Given the description of an element on the screen output the (x, y) to click on. 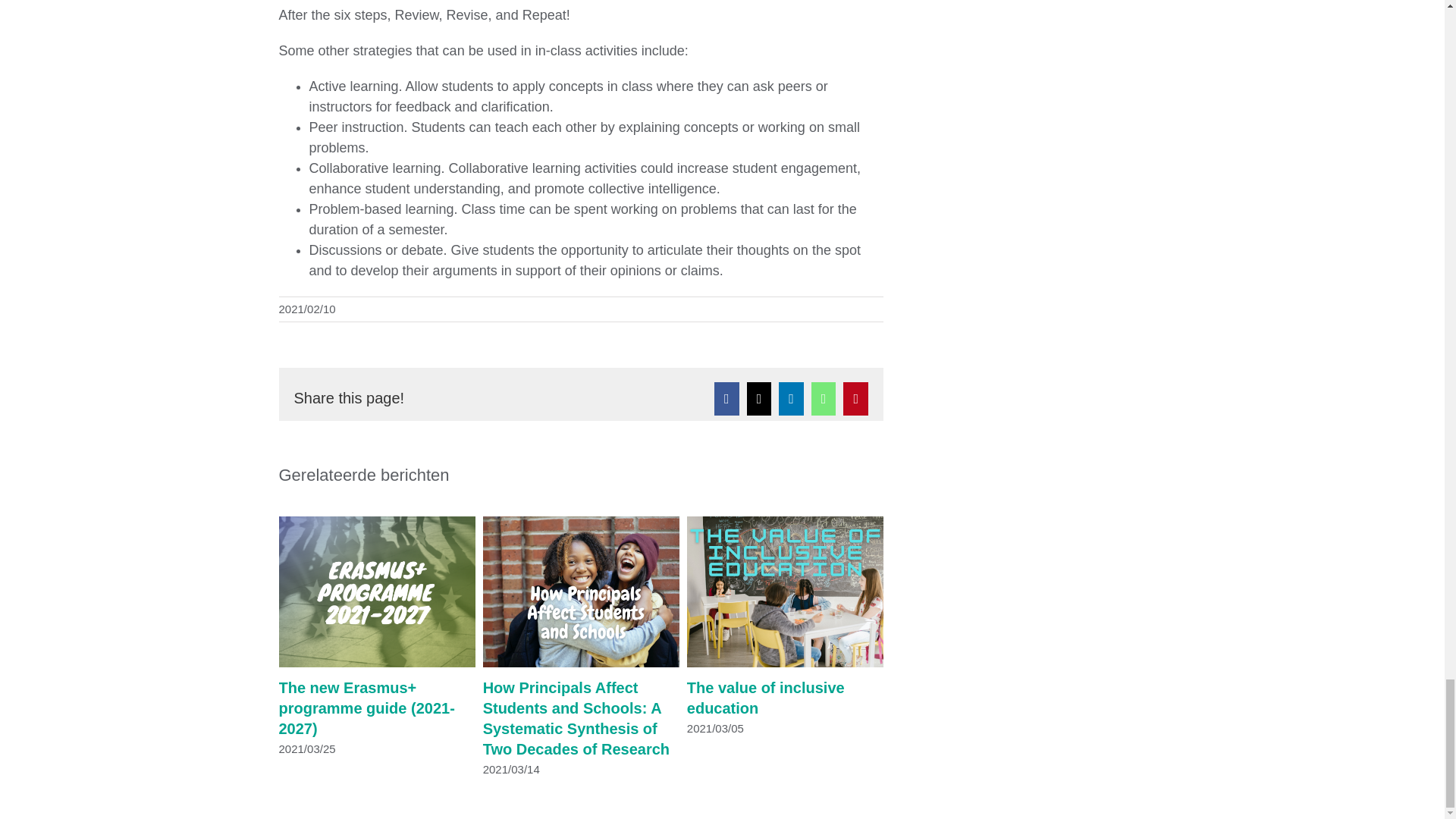
The value of inclusive education (765, 697)
The value of inclusive education (765, 697)
